Given the description of an element on the screen output the (x, y) to click on. 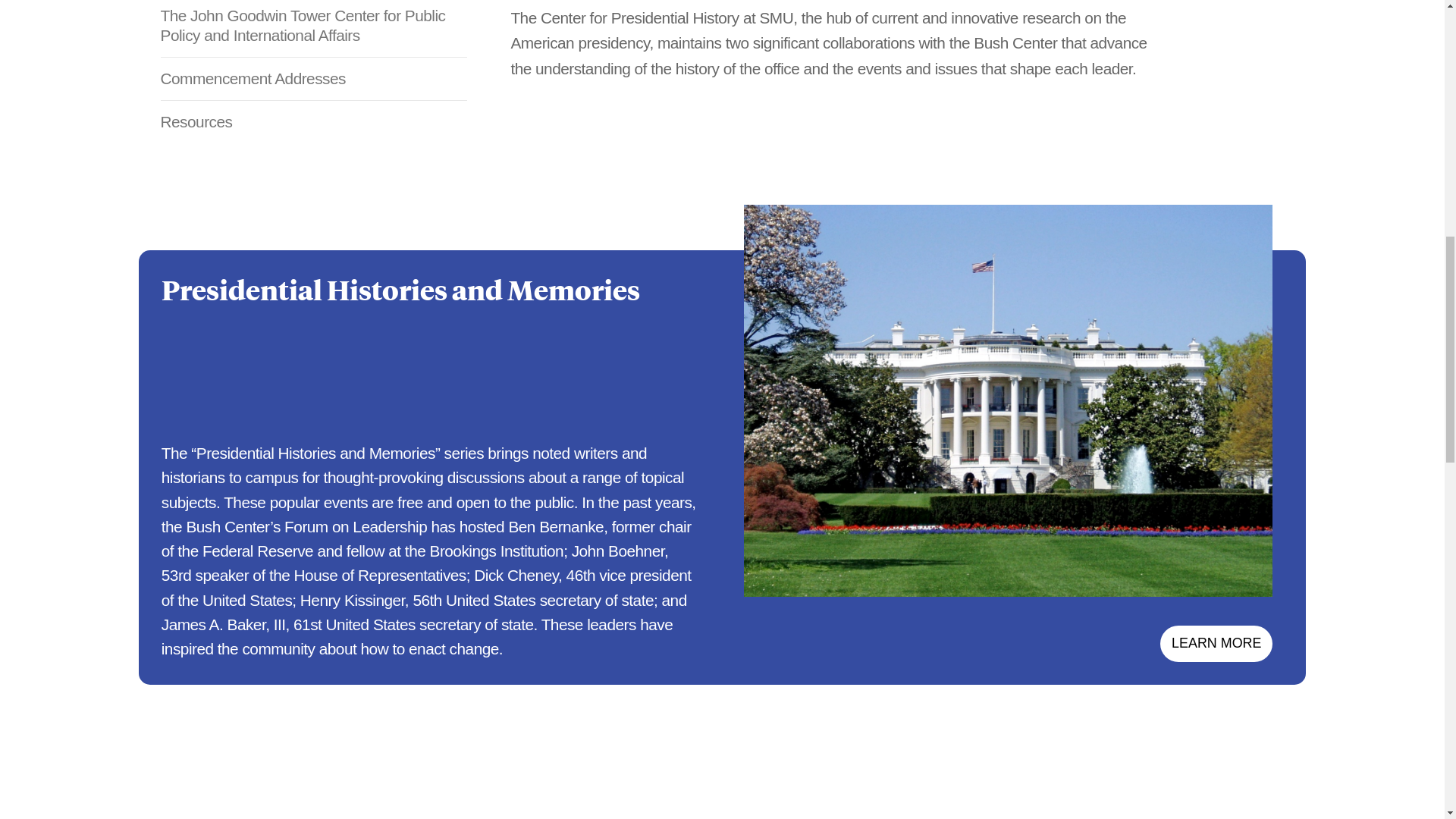
Resources (313, 121)
LEARN MORE (1216, 643)
Commencement Addresses (313, 78)
